Given the description of an element on the screen output the (x, y) to click on. 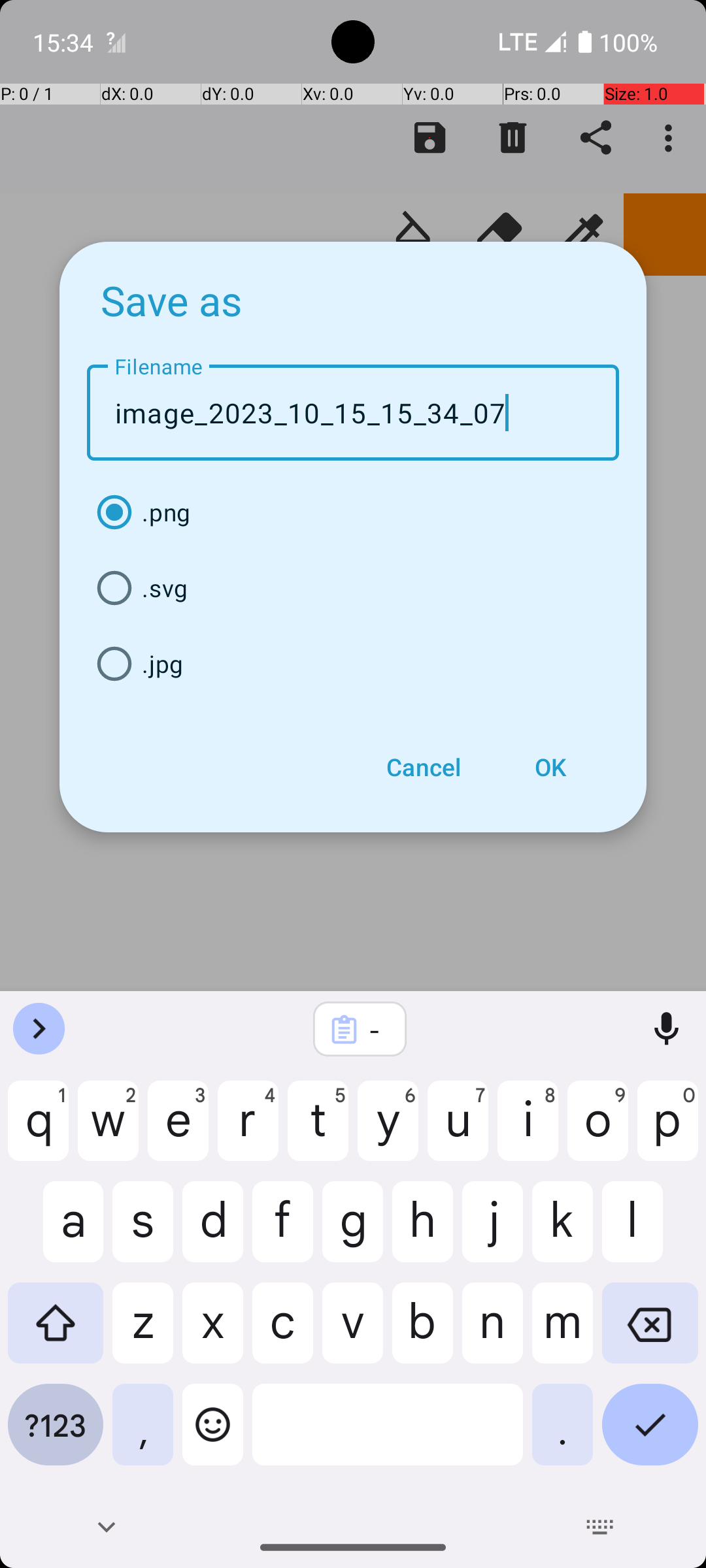
Save as Element type: android.widget.TextView (171, 299)
image_2023_10_15_15_34_07 Element type: android.widget.EditText (352, 412)
.png Element type: android.widget.RadioButton (352, 512)
.svg Element type: android.widget.RadioButton (352, 587)
.jpg Element type: android.widget.RadioButton (352, 663)
